Given the description of an element on the screen output the (x, y) to click on. 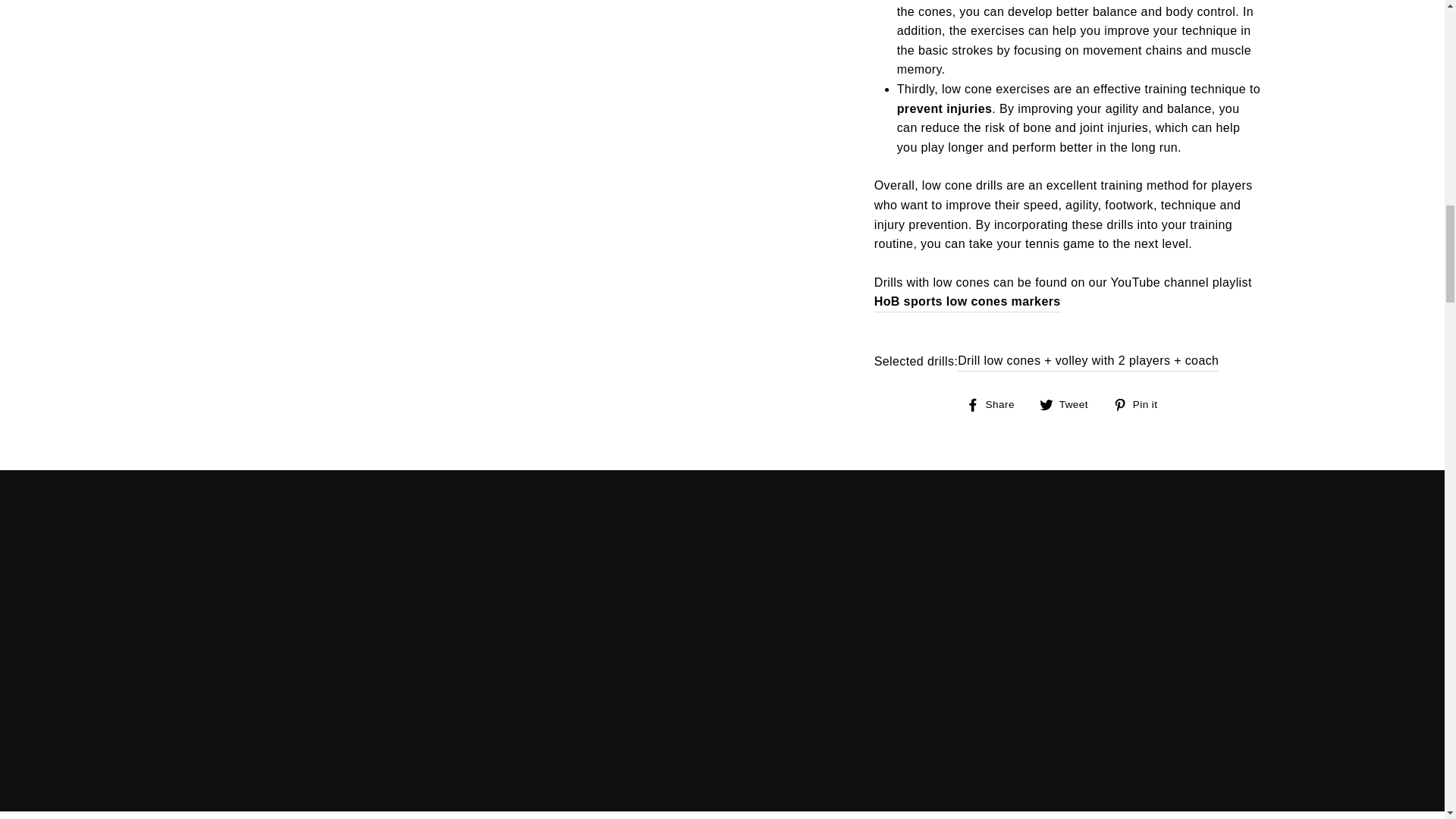
Share on Facebook (996, 403)
Tweet on Twitter (1069, 403)
Pin on Pinterest (1141, 403)
